Given the description of an element on the screen output the (x, y) to click on. 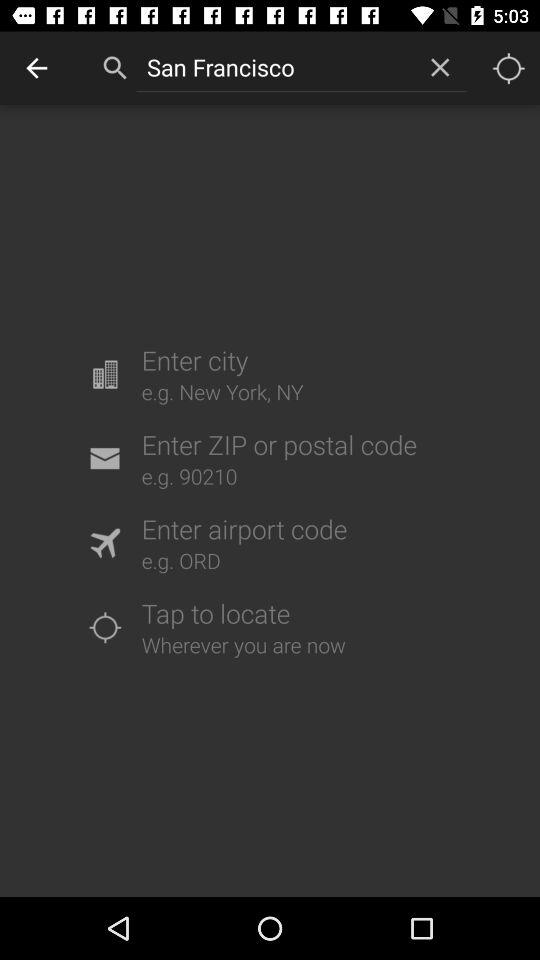
swipe to san francisco icon (274, 67)
